Given the description of an element on the screen output the (x, y) to click on. 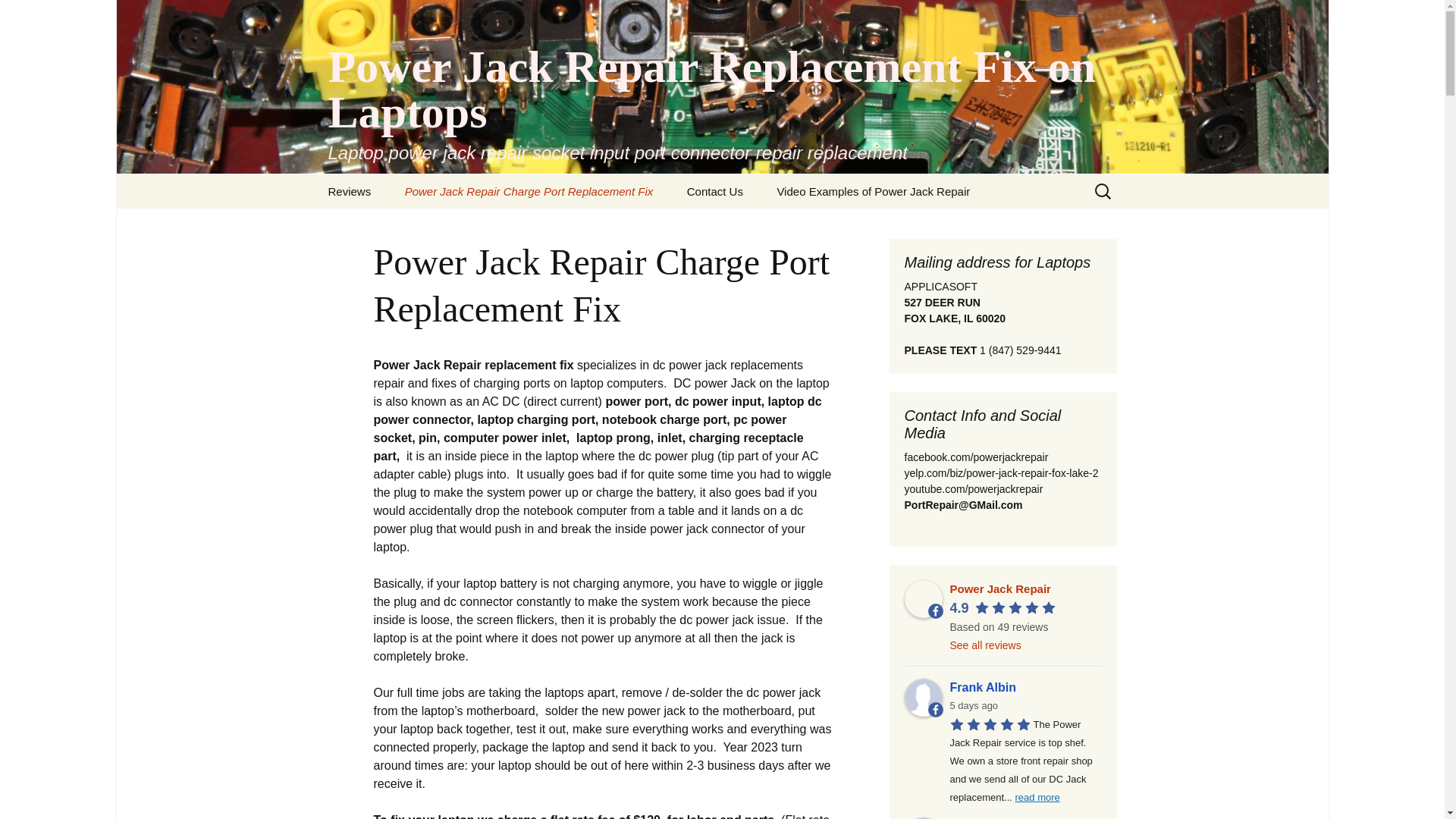
Power Jack Repair Charge Port Replacement Fix (529, 191)
Video Examples of Power Jack Repair (873, 191)
Power Jack Repair (999, 588)
Contact Us (714, 191)
Search (18, 15)
Frank Albin (1024, 687)
Power Jack Repair (923, 598)
Reviews (349, 191)
Frank Albin (923, 697)
See all reviews (984, 645)
